Given the description of an element on the screen output the (x, y) to click on. 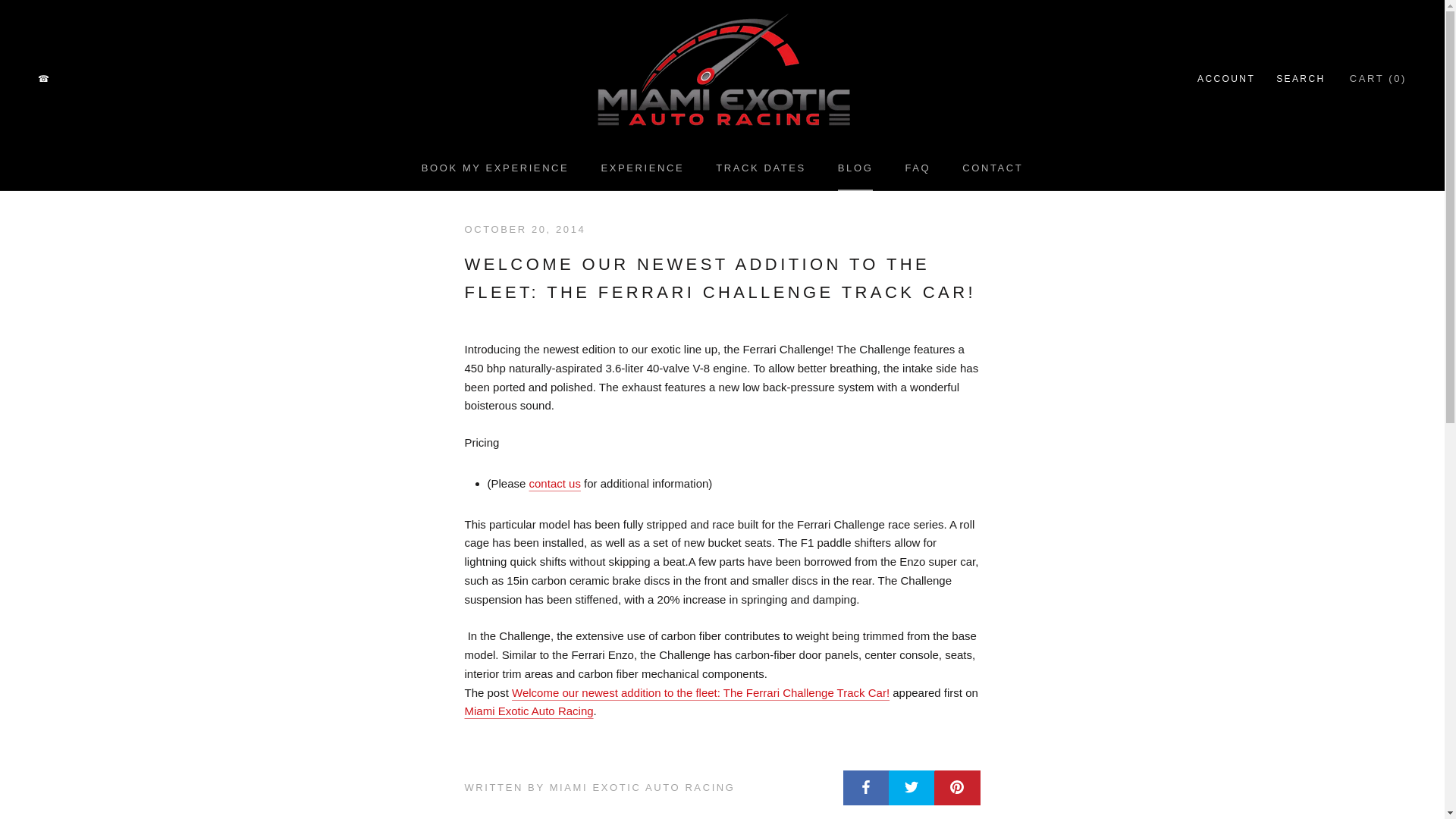
TRACK DATES (917, 167)
ACCOUNT (761, 167)
SEARCH (495, 167)
Miami Exotic Auto Racing (1225, 79)
EXPERIENCE (1300, 79)
